Given the description of an element on the screen output the (x, y) to click on. 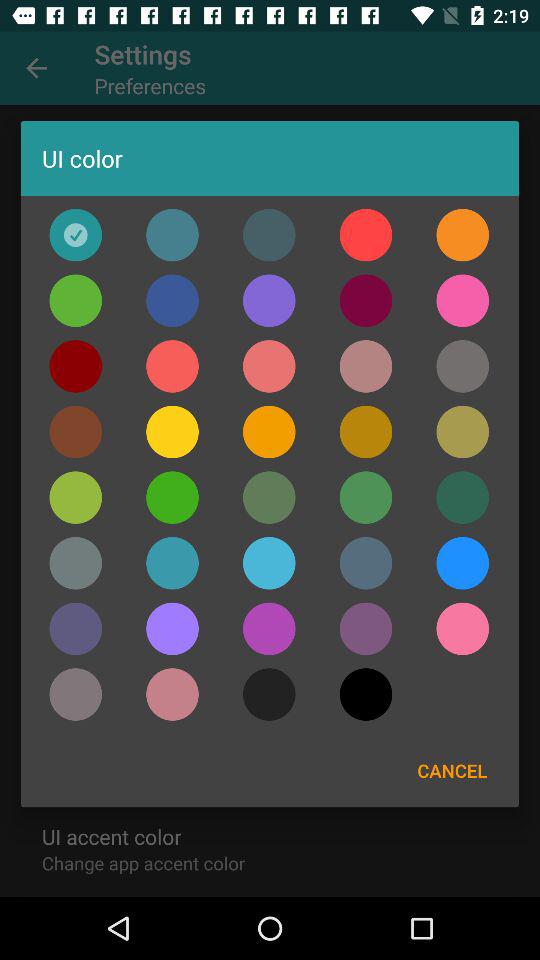
selec one colour (172, 300)
